Given the description of an element on the screen output the (x, y) to click on. 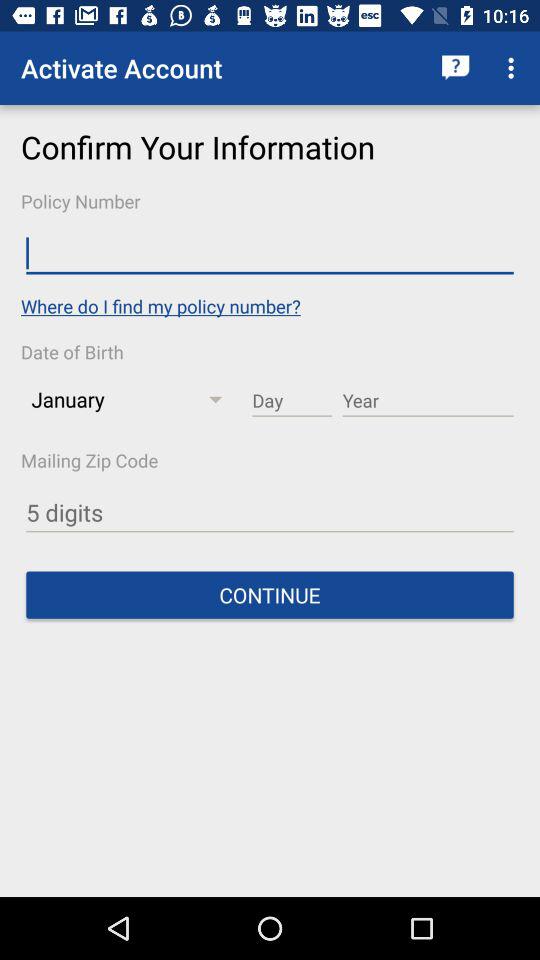
enter zip code (270, 512)
